Given the description of an element on the screen output the (x, y) to click on. 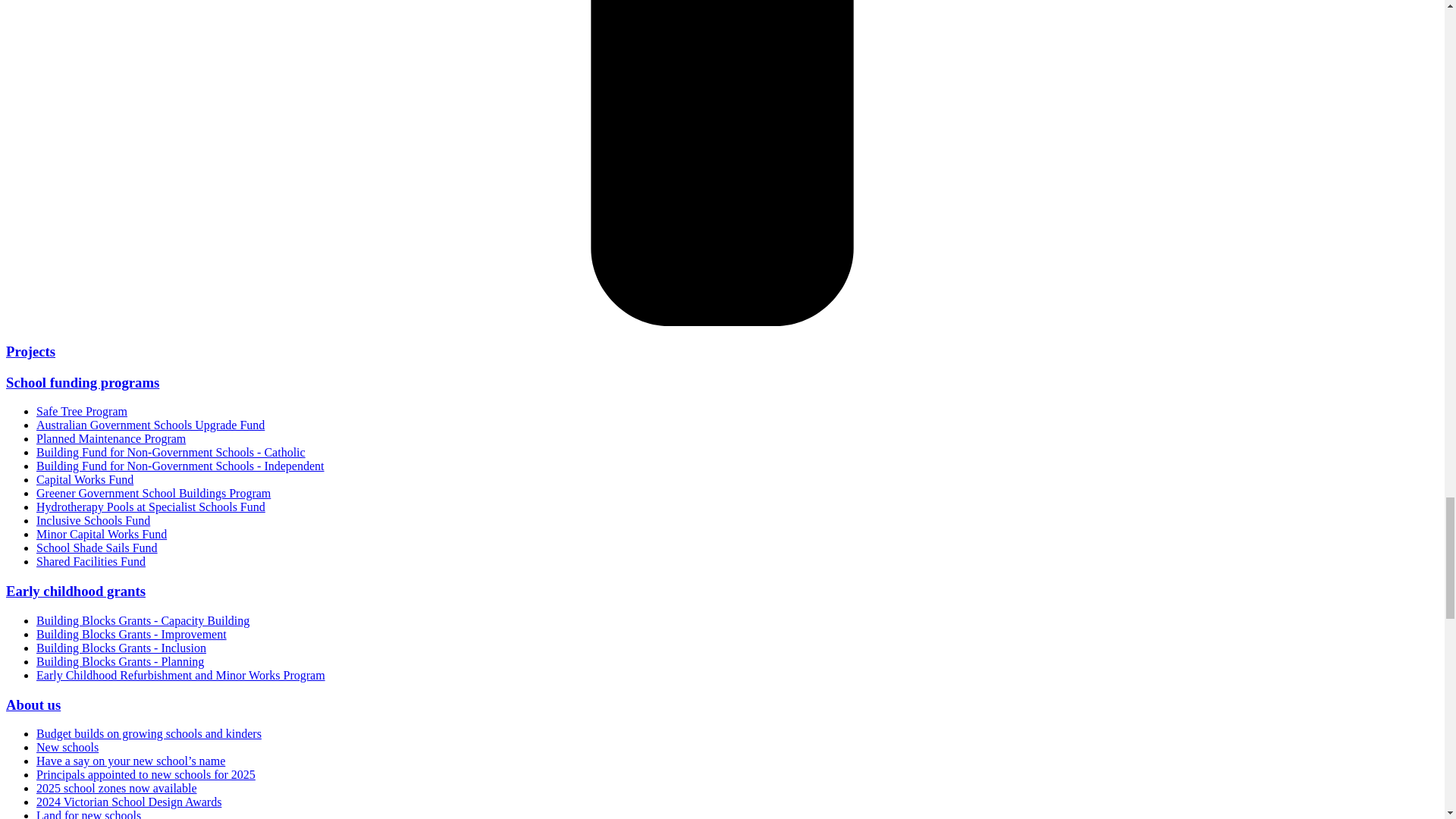
Building Blocks Grants - Inclusion (121, 647)
Inclusive Schools Fund (92, 520)
Planned Maintenance Program (111, 438)
Greener Government School Buildings Program (153, 492)
About us (33, 704)
Principals appointed to new schools for 2025 (146, 774)
Early Childhood Refurbishment and Minor Works Program (180, 675)
Capital Works Fund (84, 479)
Early childhood grants (75, 590)
New schools (67, 747)
Building Blocks Grants - Improvement (131, 634)
Safe Tree Program (82, 410)
Building Fund for Non-Government Schools - Independent (180, 465)
Minor Capital Works Fund (101, 533)
School funding programs (81, 382)
